Given the description of an element on the screen output the (x, y) to click on. 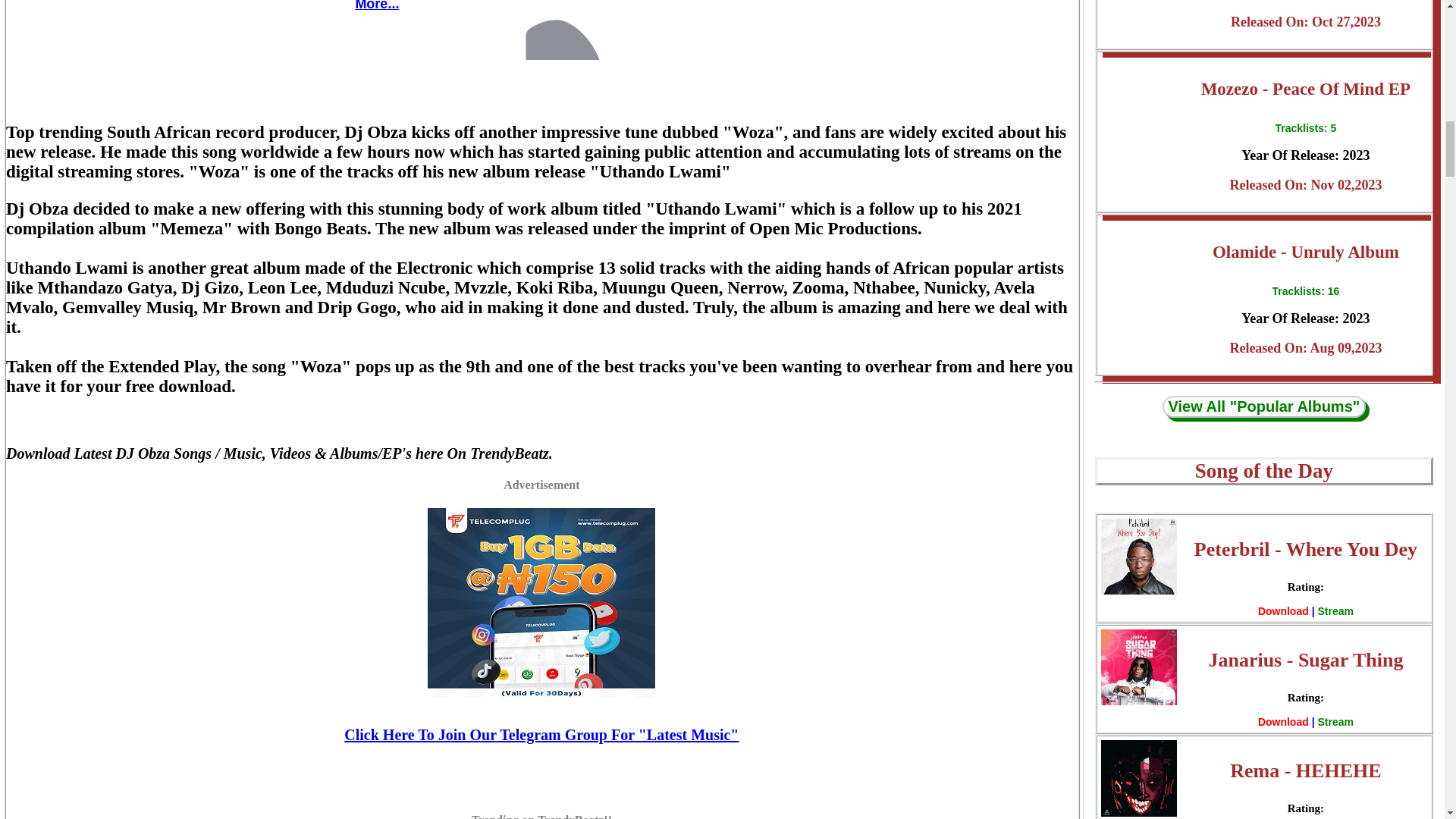
Click Here To Join Our Telegram Group For "Latest Music" (540, 734)
